Given the description of an element on the screen output the (x, y) to click on. 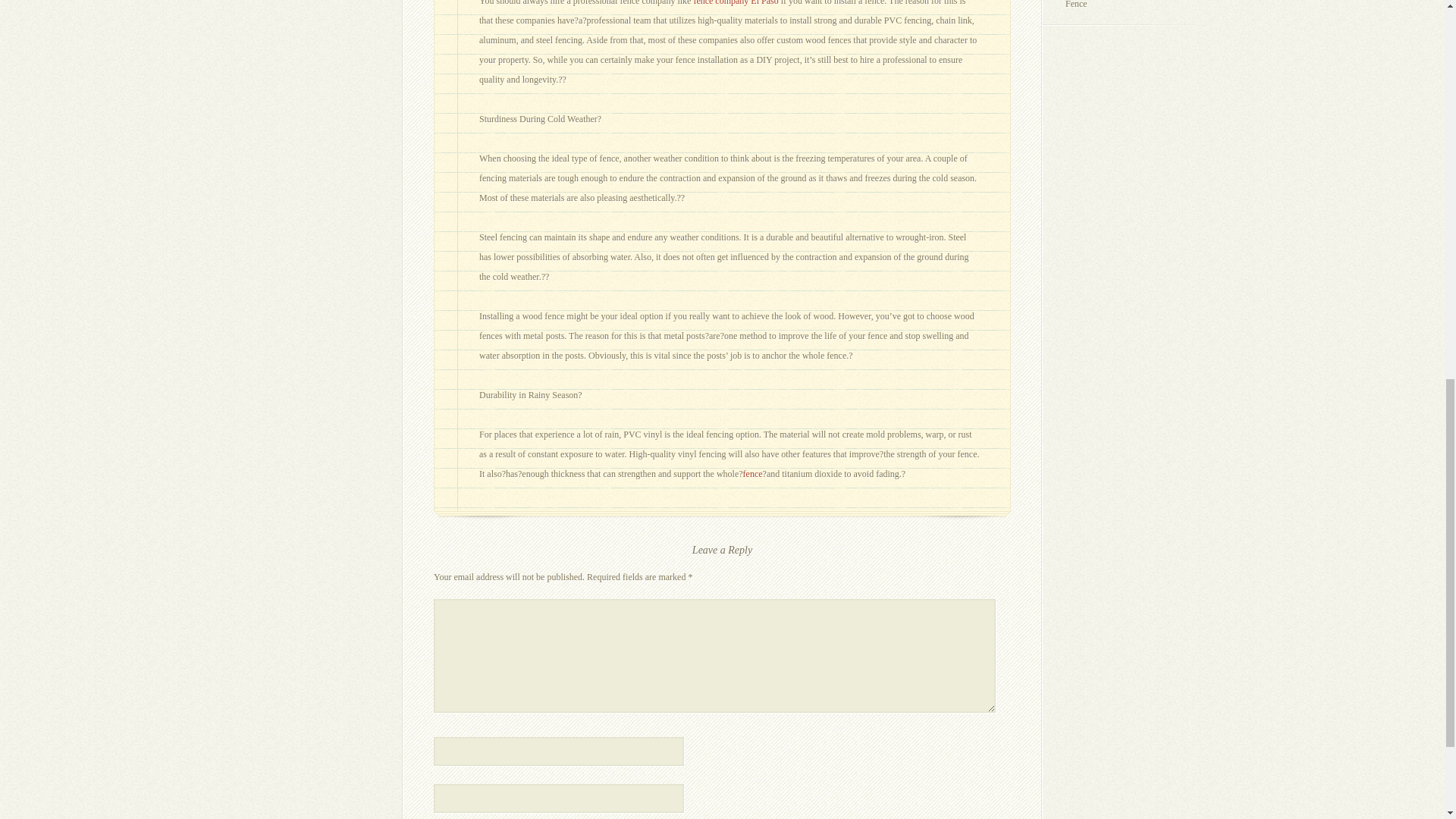
fence company El Paso (735, 2)
fence (752, 473)
